Given the description of an element on the screen output the (x, y) to click on. 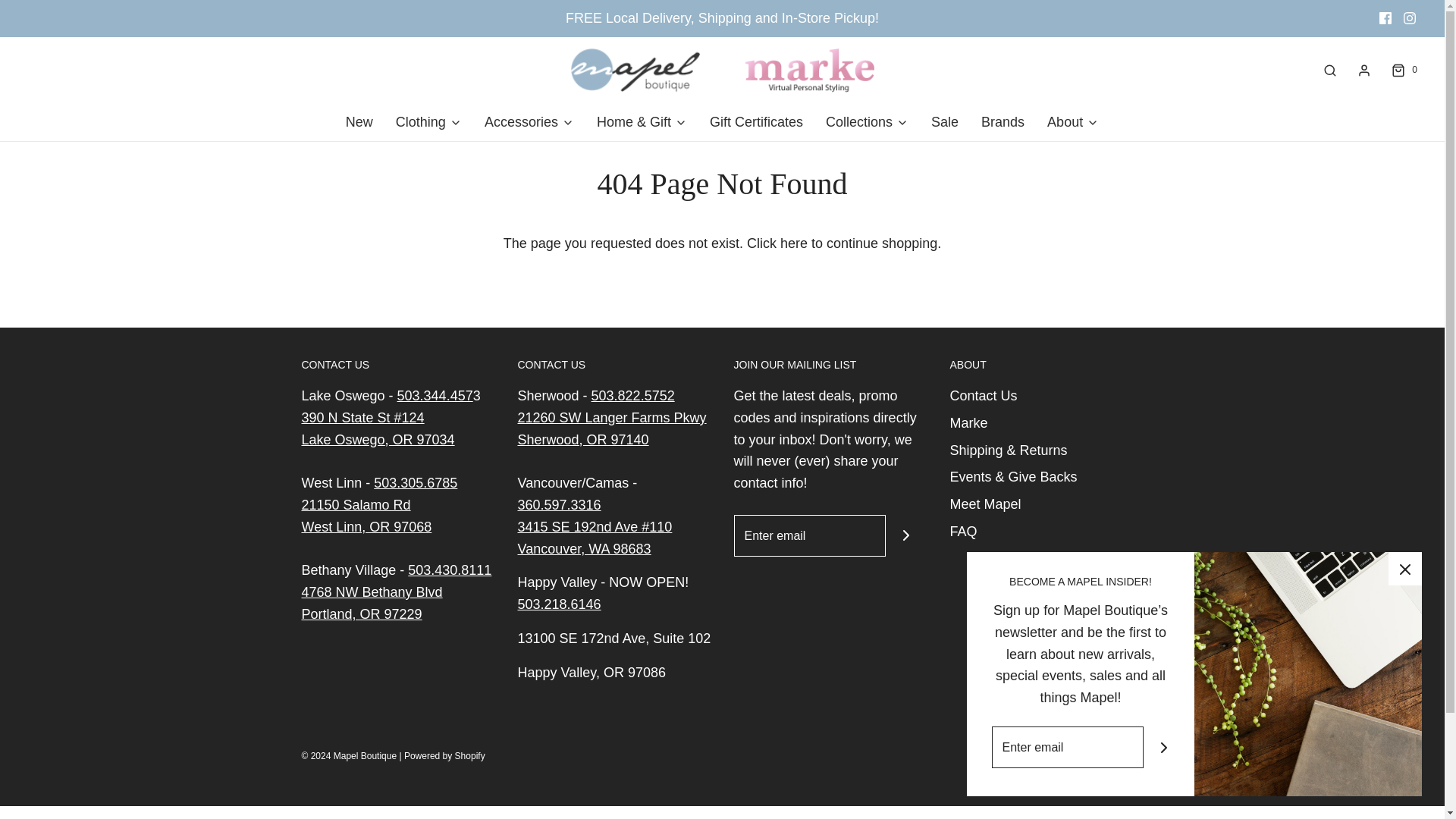
Instagram icon (1409, 17)
Search (1329, 69)
Log in (1364, 69)
Facebook icon (1385, 17)
Facebook icon (1384, 18)
Cart (1403, 69)
Instagram icon (1409, 18)
